Given the description of an element on the screen output the (x, y) to click on. 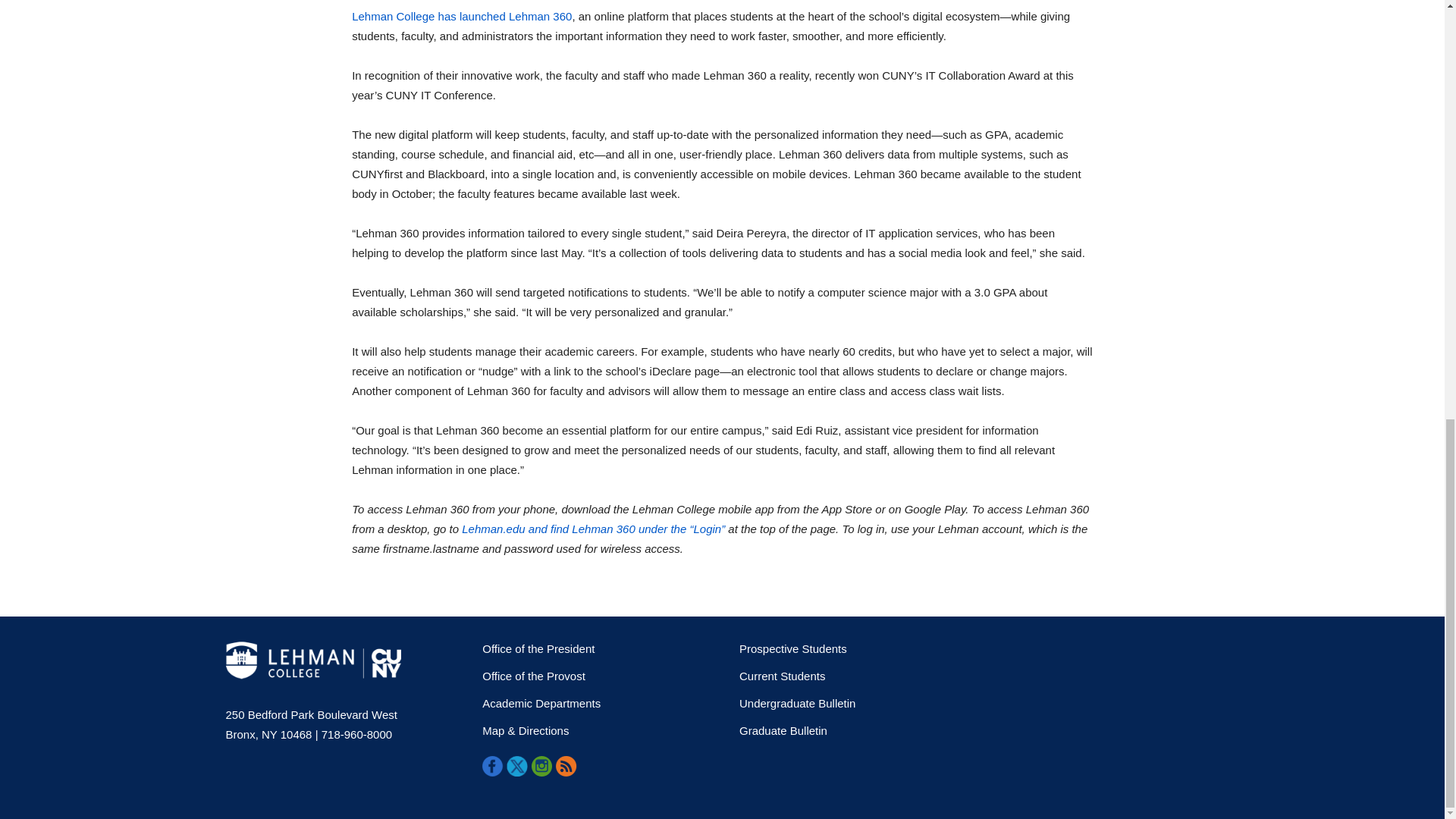
Lehman College has launched Lehman 360 (462, 15)
718-960-8000 (355, 734)
Office of the Provost (533, 675)
Current Students (782, 675)
Graduate Bulletin (783, 730)
Academic Departments (540, 703)
Office of the President (537, 648)
Undergraduate Bulletin (797, 703)
Prospective Students (793, 648)
